Given the description of an element on the screen output the (x, y) to click on. 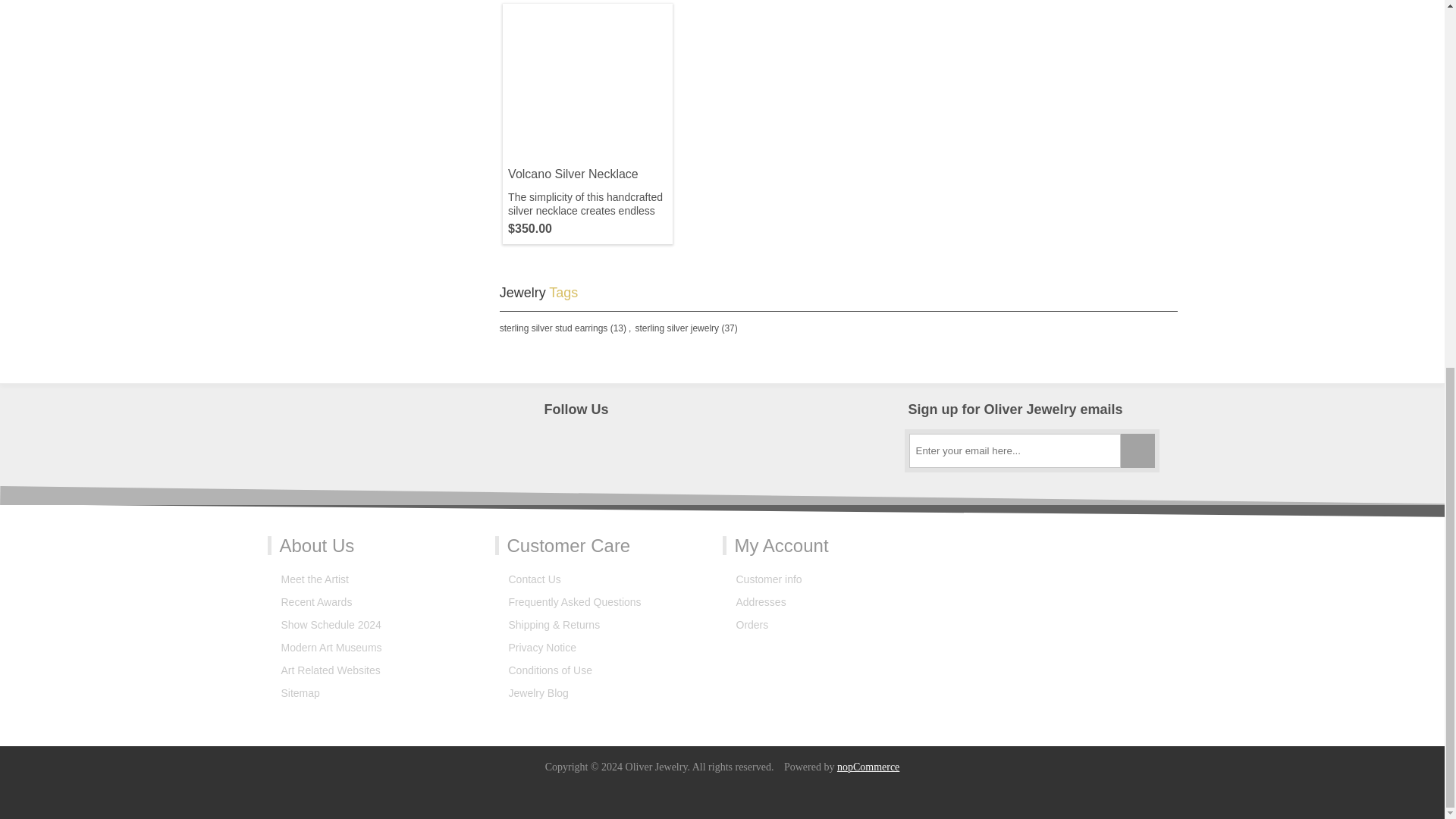
sterling silver jewelry (676, 328)
Volcano Silver Necklace (587, 88)
sterling silver stud earrings (553, 328)
Volcano Silver Necklace (587, 173)
